Given the description of an element on the screen output the (x, y) to click on. 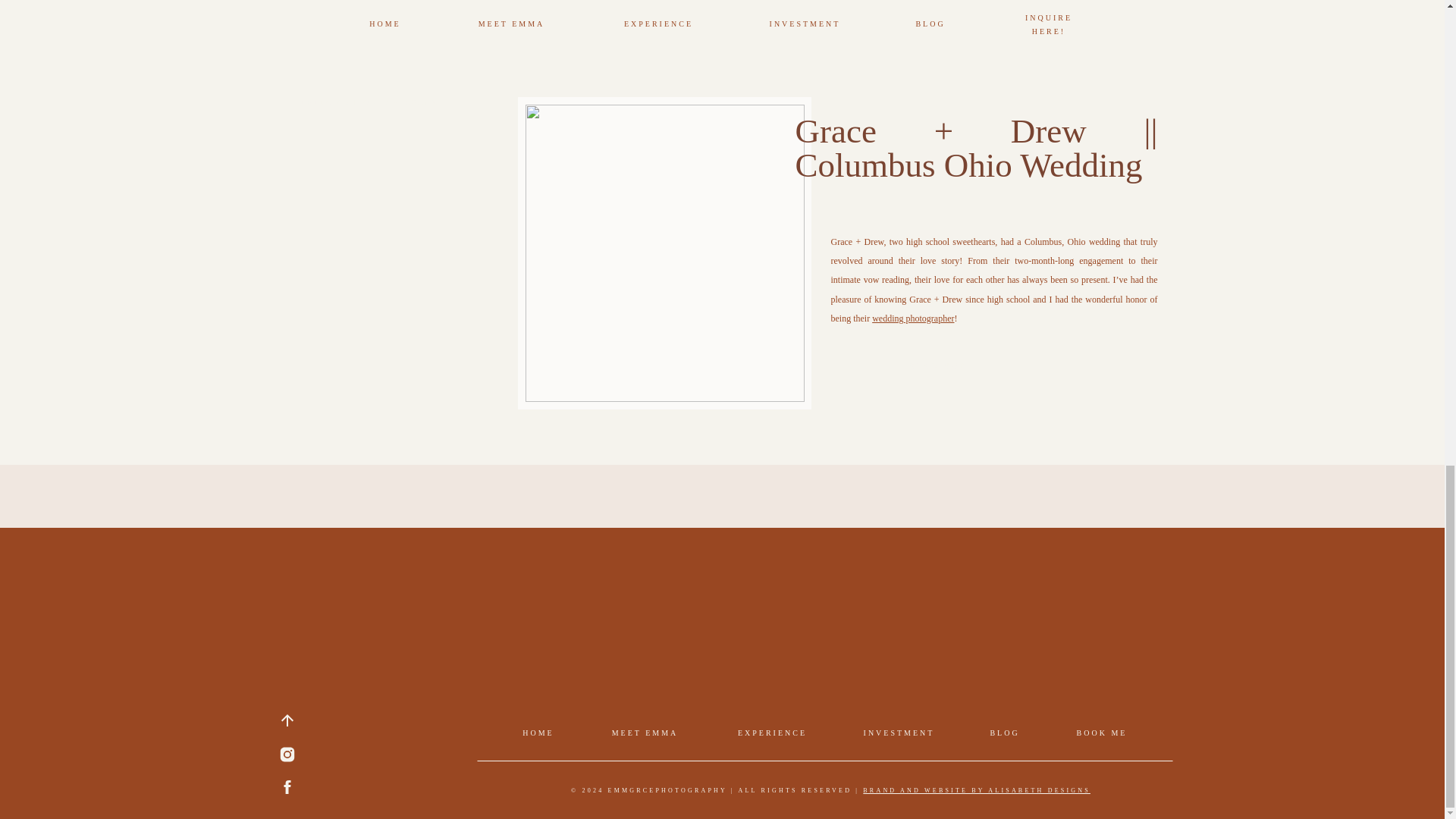
FOLLOW ME ON INSTAGRAM (370, 102)
READ MORE (940, 366)
wedding photographer (912, 317)
